Given the description of an element on the screen output the (x, y) to click on. 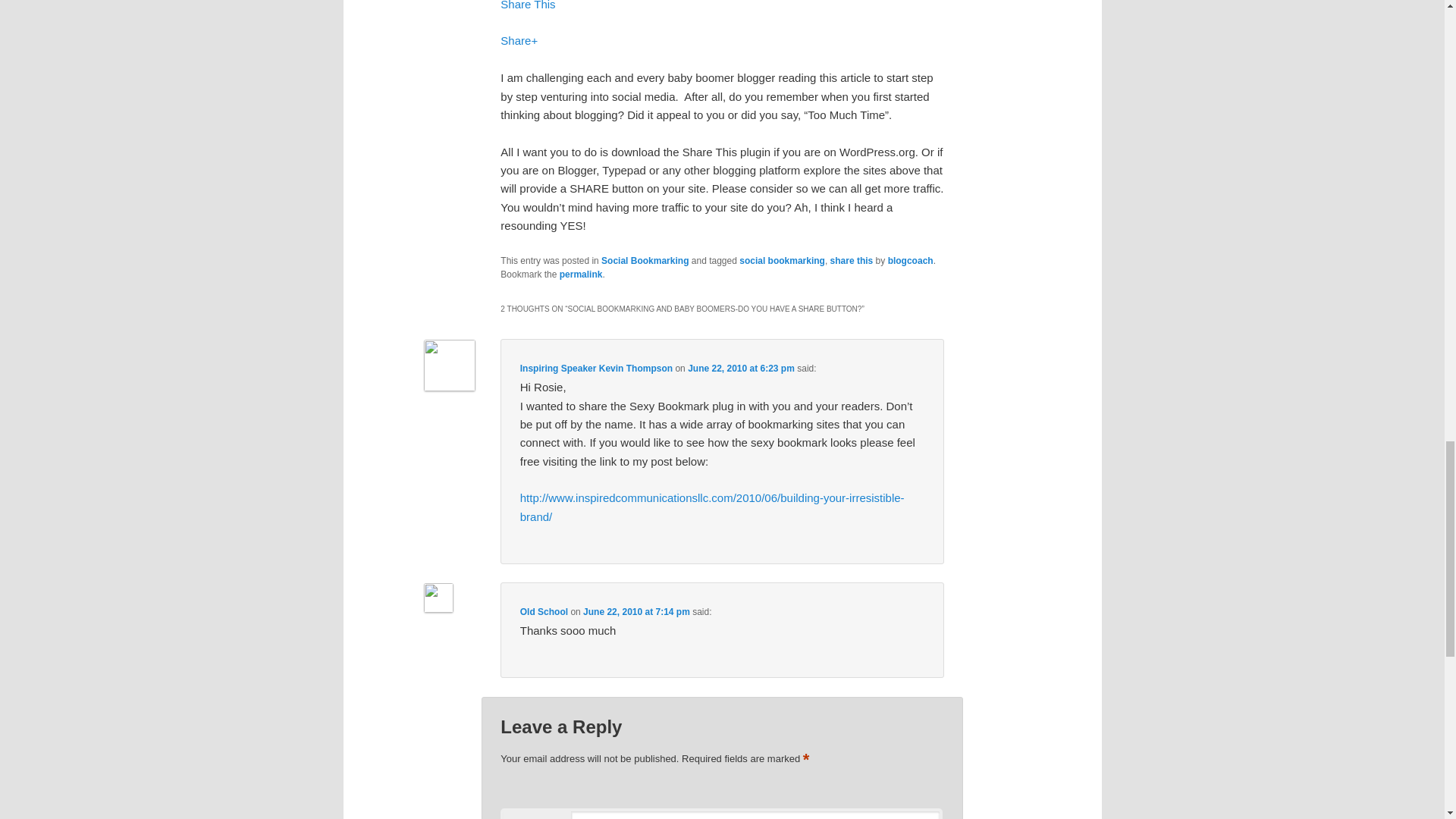
Inspiring Speaker Kevin Thompson (595, 368)
blogcoach (910, 260)
June 22, 2010 at 7:14 pm (636, 611)
June 22, 2010 at 6:23 pm (740, 368)
social bookmarking (782, 260)
Social Bookmarking (644, 260)
share this (851, 260)
permalink (580, 274)
Old School (543, 611)
